Given the description of an element on the screen output the (x, y) to click on. 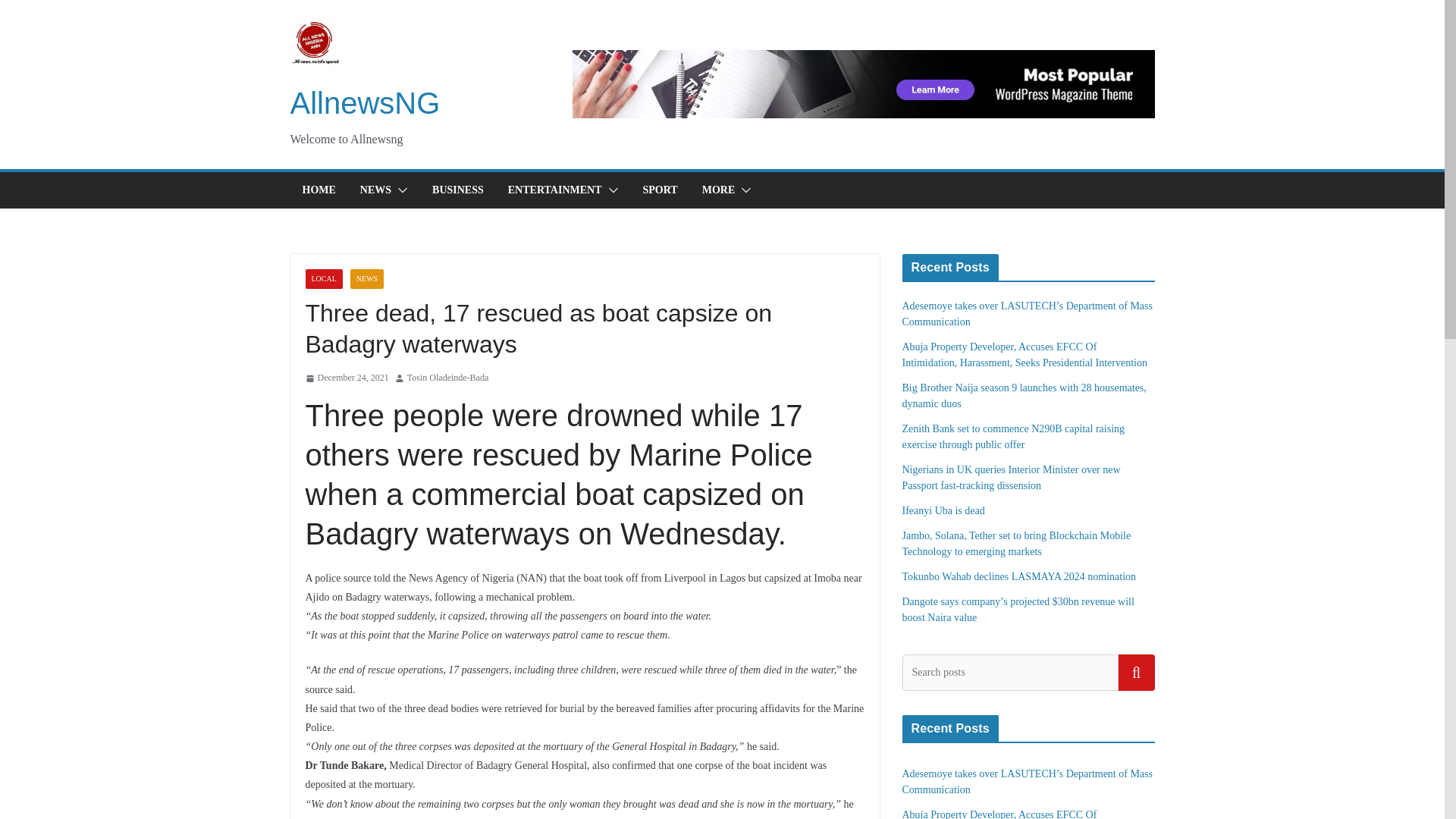
Tosin Oladeinde-Bada (447, 378)
Ifeanyi Uba is dead (943, 510)
NEWS (367, 279)
BUSINESS (457, 189)
AllnewsNG (364, 102)
Tokunbo Wahab declines LASMAYA 2024 nomination (1019, 576)
LOCAL (323, 279)
MORE (718, 189)
